Given the description of an element on the screen output the (x, y) to click on. 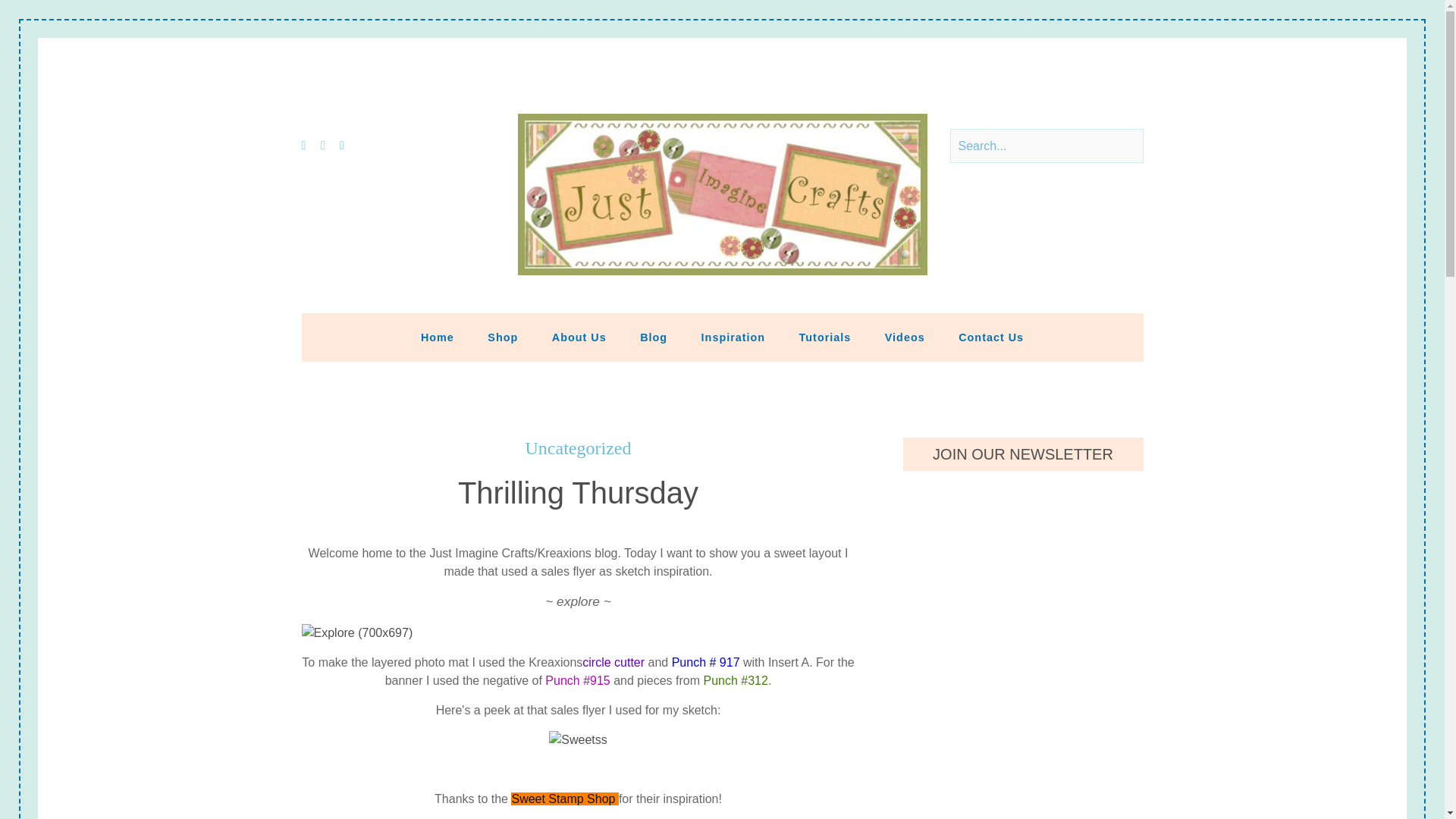
Shop (501, 336)
Sweet Stamp Shop (562, 799)
Contact Us (991, 336)
Tutorials (825, 336)
Blog (653, 336)
Home (437, 336)
About Us (579, 336)
Sweetss (577, 740)
Uncategorized (578, 448)
circle cutter (613, 662)
Videos (904, 336)
Inspiration (732, 336)
